Given the description of an element on the screen output the (x, y) to click on. 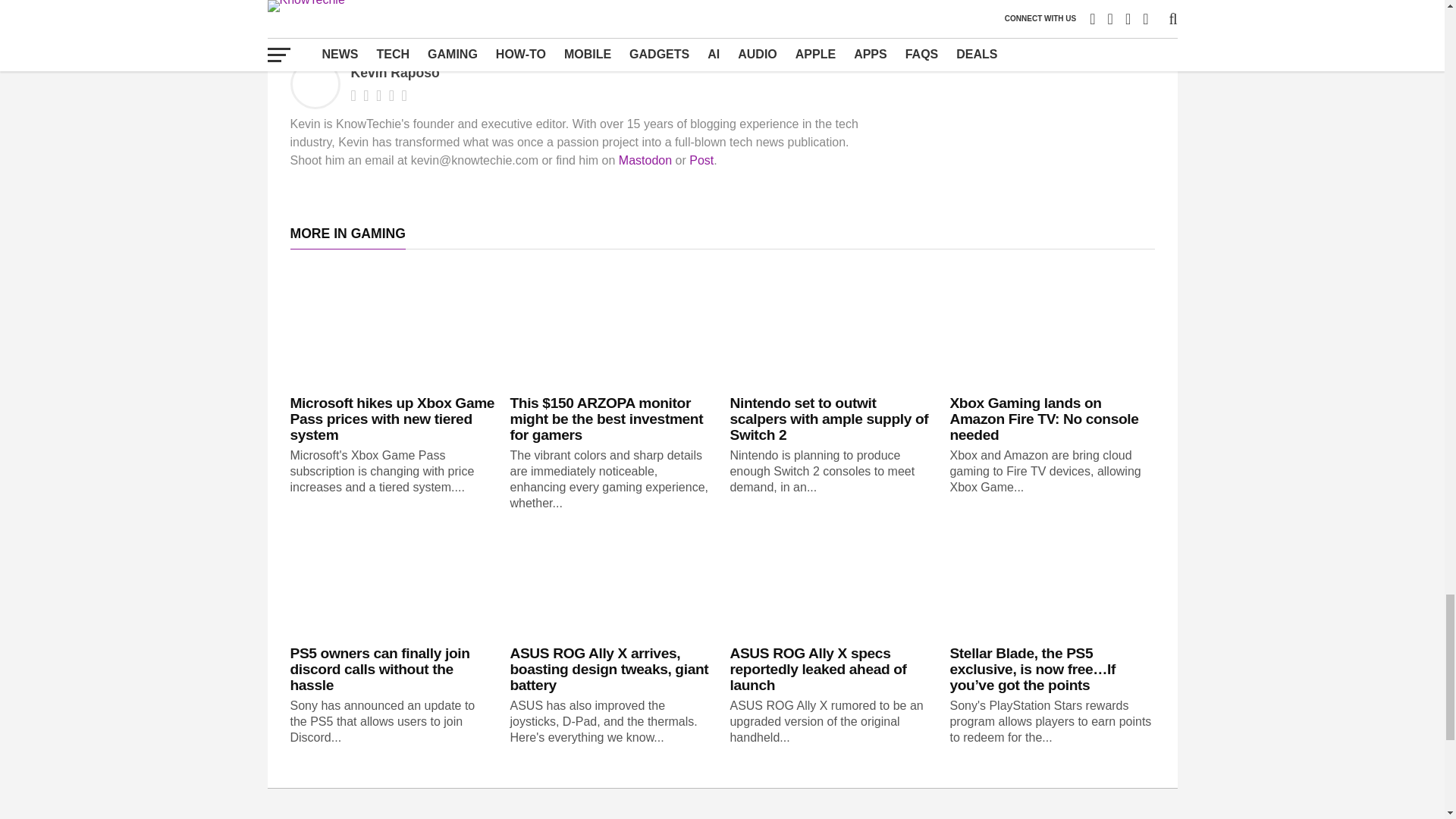
Posts by Kevin Raposo (394, 72)
